Given the description of an element on the screen output the (x, y) to click on. 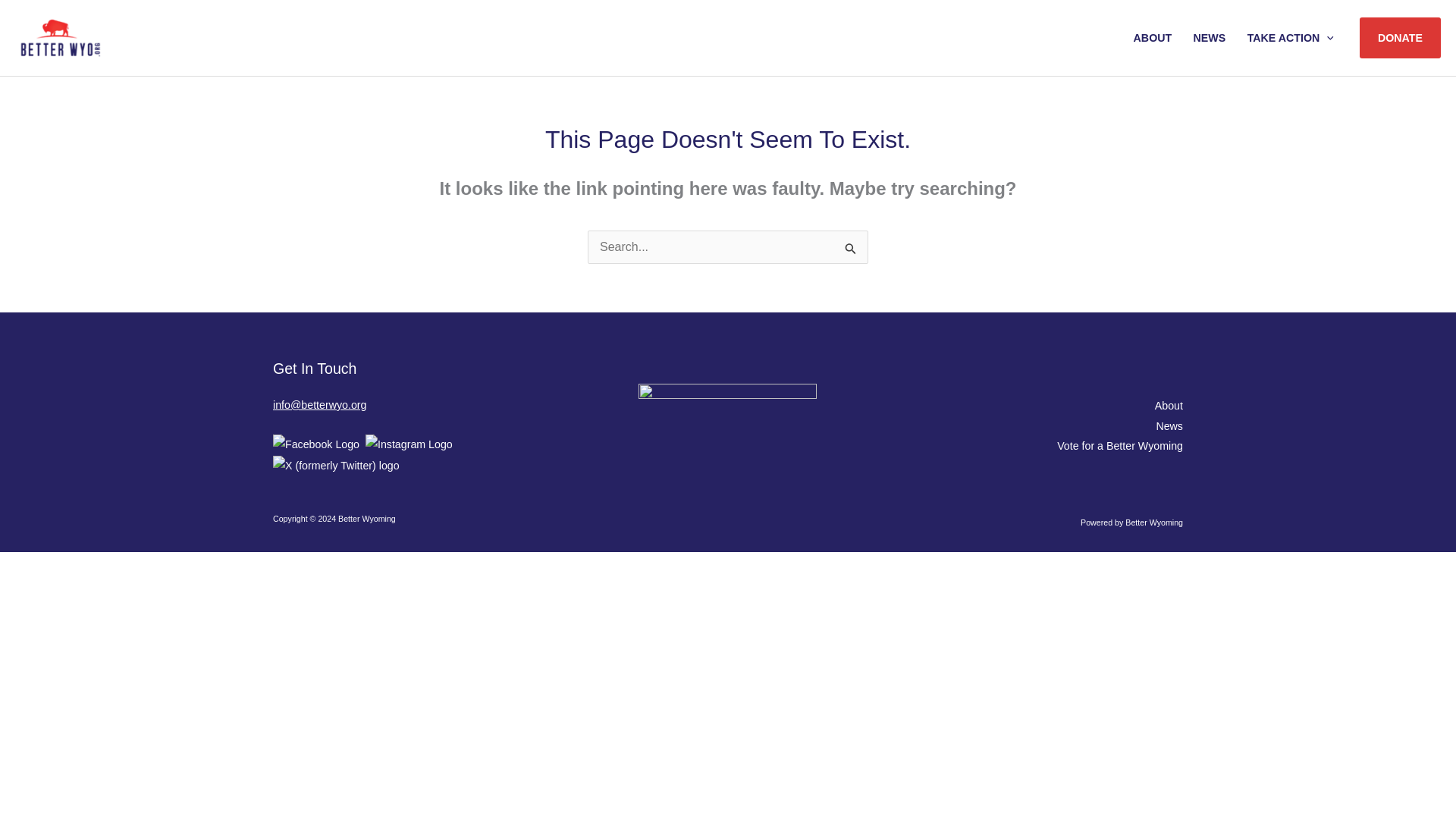
Search (850, 248)
Vote for a Better Wyoming (1119, 445)
Search (850, 248)
TAKE ACTION (1289, 38)
Search (850, 248)
About (1168, 405)
DONATE (1400, 37)
News (1169, 426)
